Given the description of an element on the screen output the (x, y) to click on. 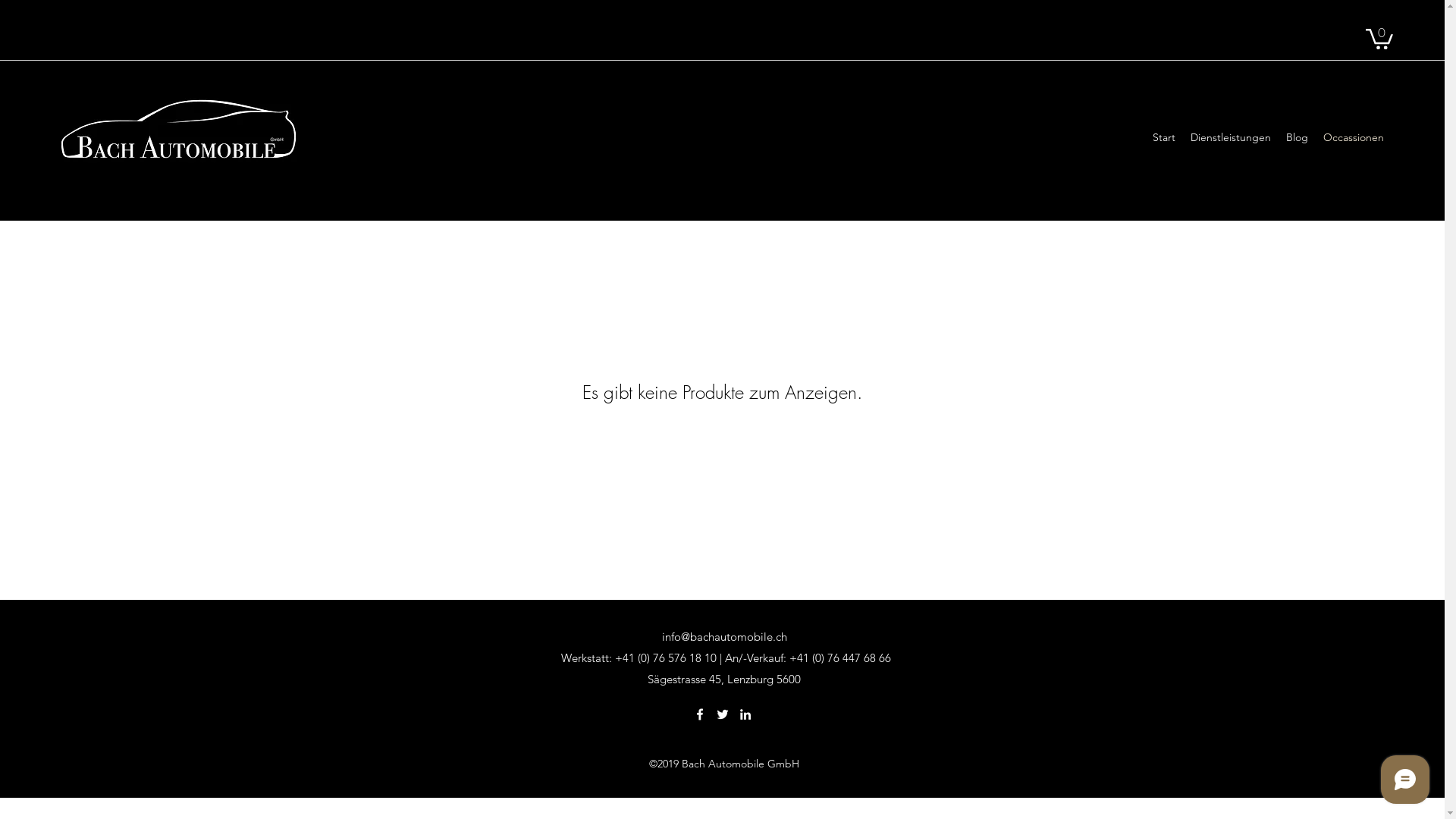
info@bachautomobile.ch Element type: text (723, 636)
Start Element type: text (1164, 136)
0 Element type: text (1379, 37)
Dienstleistungen Element type: text (1230, 136)
Blog Element type: text (1296, 136)
Occassionen Element type: text (1353, 136)
